Given the description of an element on the screen output the (x, y) to click on. 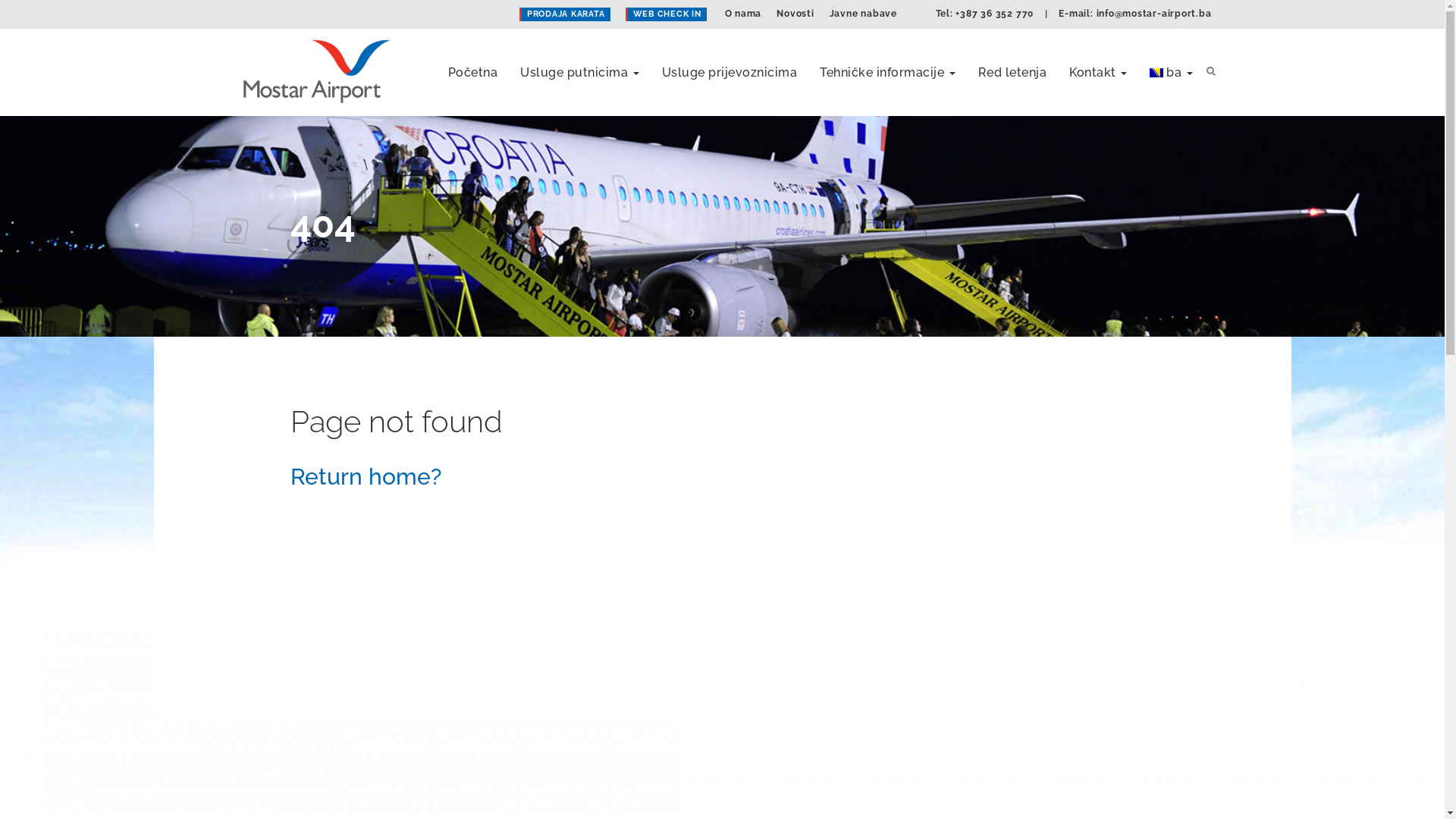
Red letenja Element type: text (1011, 53)
PRODAJA KARATA Element type: text (564, 14)
Usluge putnicima Element type: text (579, 53)
ba Element type: text (1171, 53)
Tel: +387 36 352 770 Element type: text (984, 13)
E-mail: info@mostar-airport.ba Element type: text (1134, 13)
Kontakt Element type: text (1097, 53)
Usluge prijevoznicima Element type: text (729, 53)
O nama Element type: text (743, 13)
Return home? Element type: text (364, 476)
WEB CHECK IN Element type: text (665, 14)
Javne nabave Element type: text (863, 13)
Novosti Element type: text (794, 13)
